Given the description of an element on the screen output the (x, y) to click on. 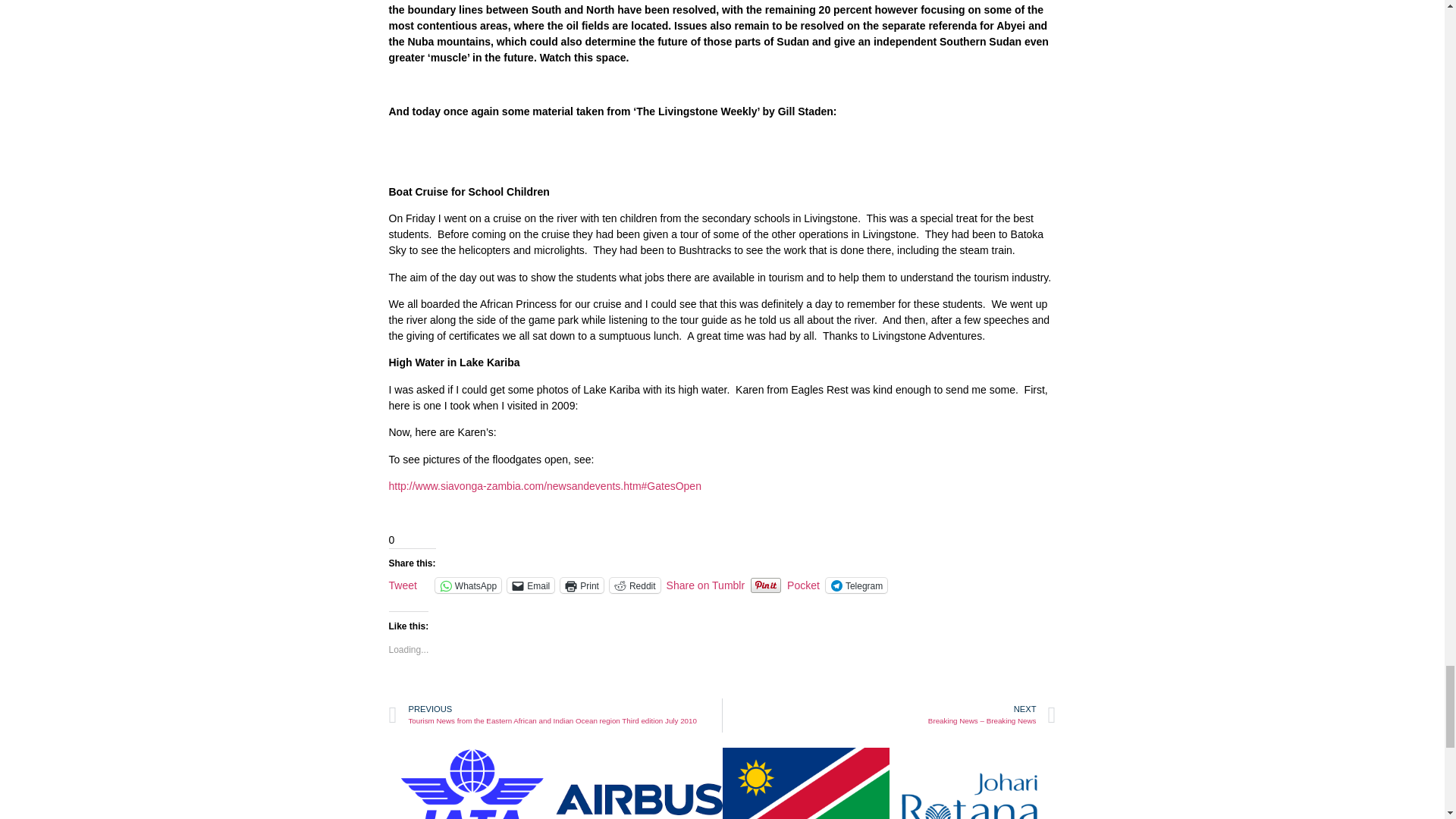
Pocket (803, 585)
Reddit (635, 585)
Email (530, 585)
Share on Tumblr (705, 584)
Click to share on Reddit (635, 585)
Click to print (582, 585)
Click to email a link to a friend (530, 585)
WhatsApp (467, 585)
Telegram (855, 585)
Print (582, 585)
Tweet (402, 584)
Share on Tumblr (705, 584)
Click to share on WhatsApp (467, 585)
Click to share on Telegram (855, 585)
